Given the description of an element on the screen output the (x, y) to click on. 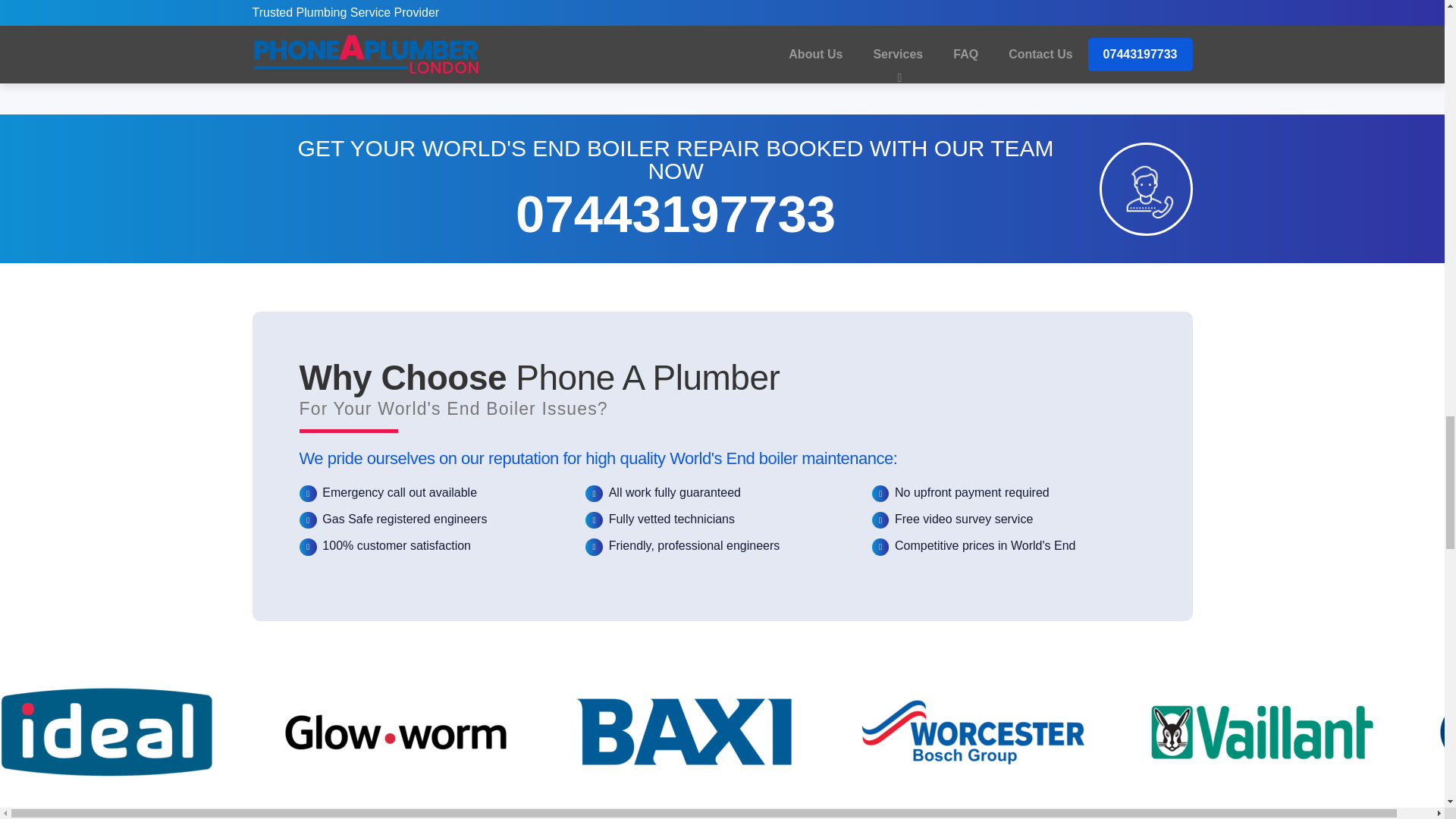
Call our World's End Boiler Engineers (1145, 188)
